Given the description of an element on the screen output the (x, y) to click on. 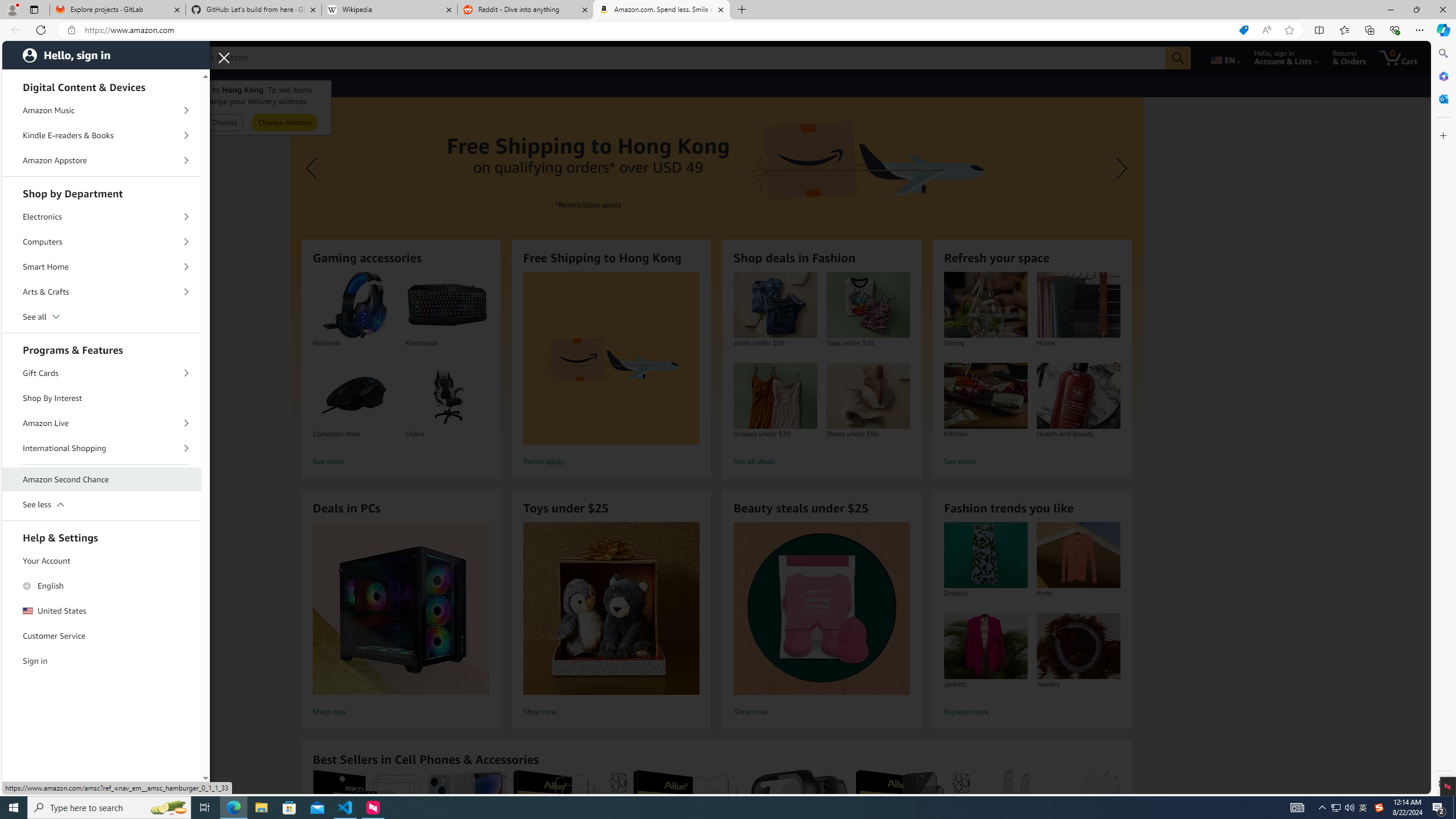
United States (101, 610)
English (101, 586)
United States (101, 611)
See less (101, 504)
Your Account (101, 560)
